Given the description of an element on the screen output the (x, y) to click on. 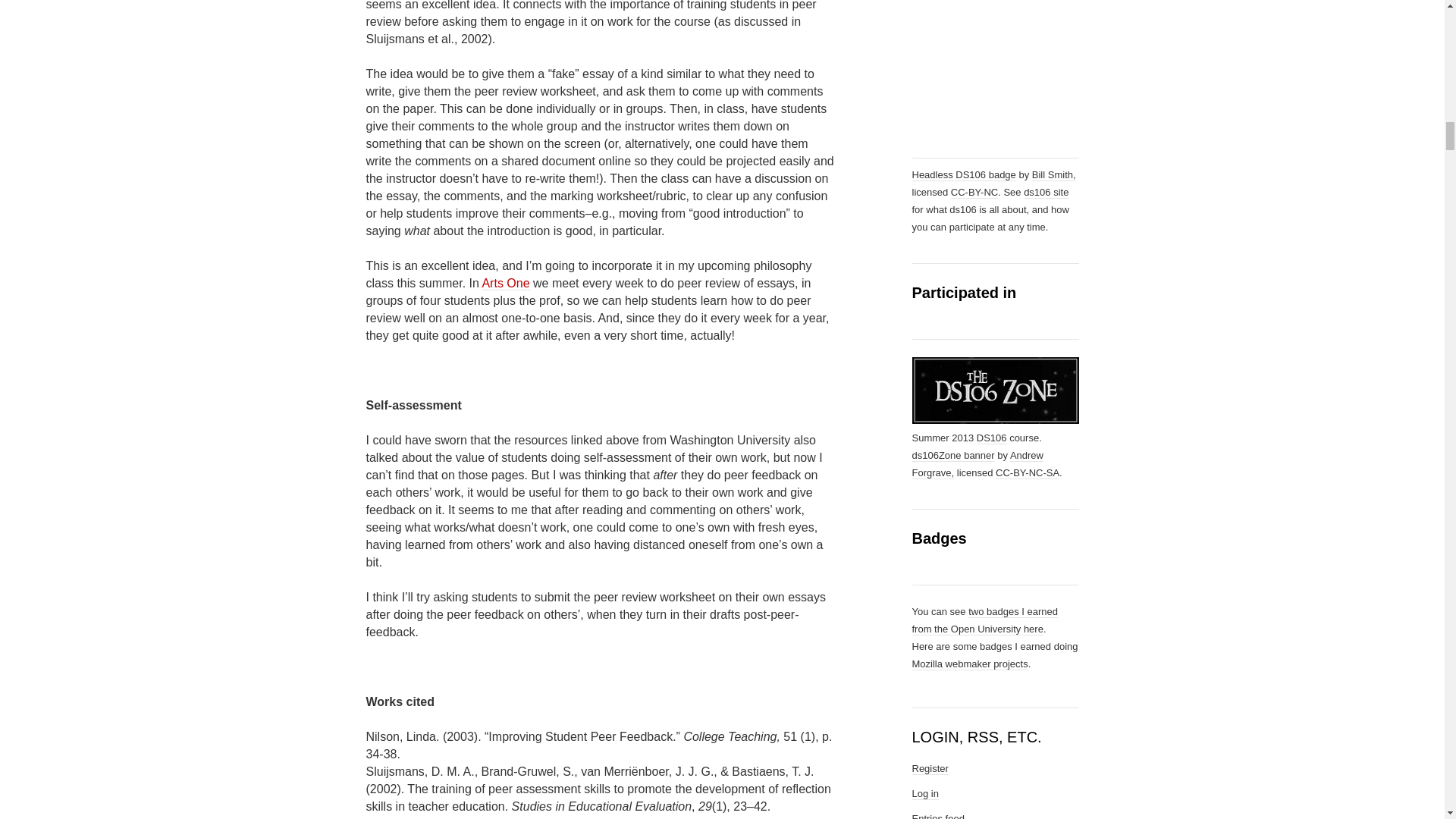
Arts One (505, 283)
Arts One website (505, 283)
